Given the description of an element on the screen output the (x, y) to click on. 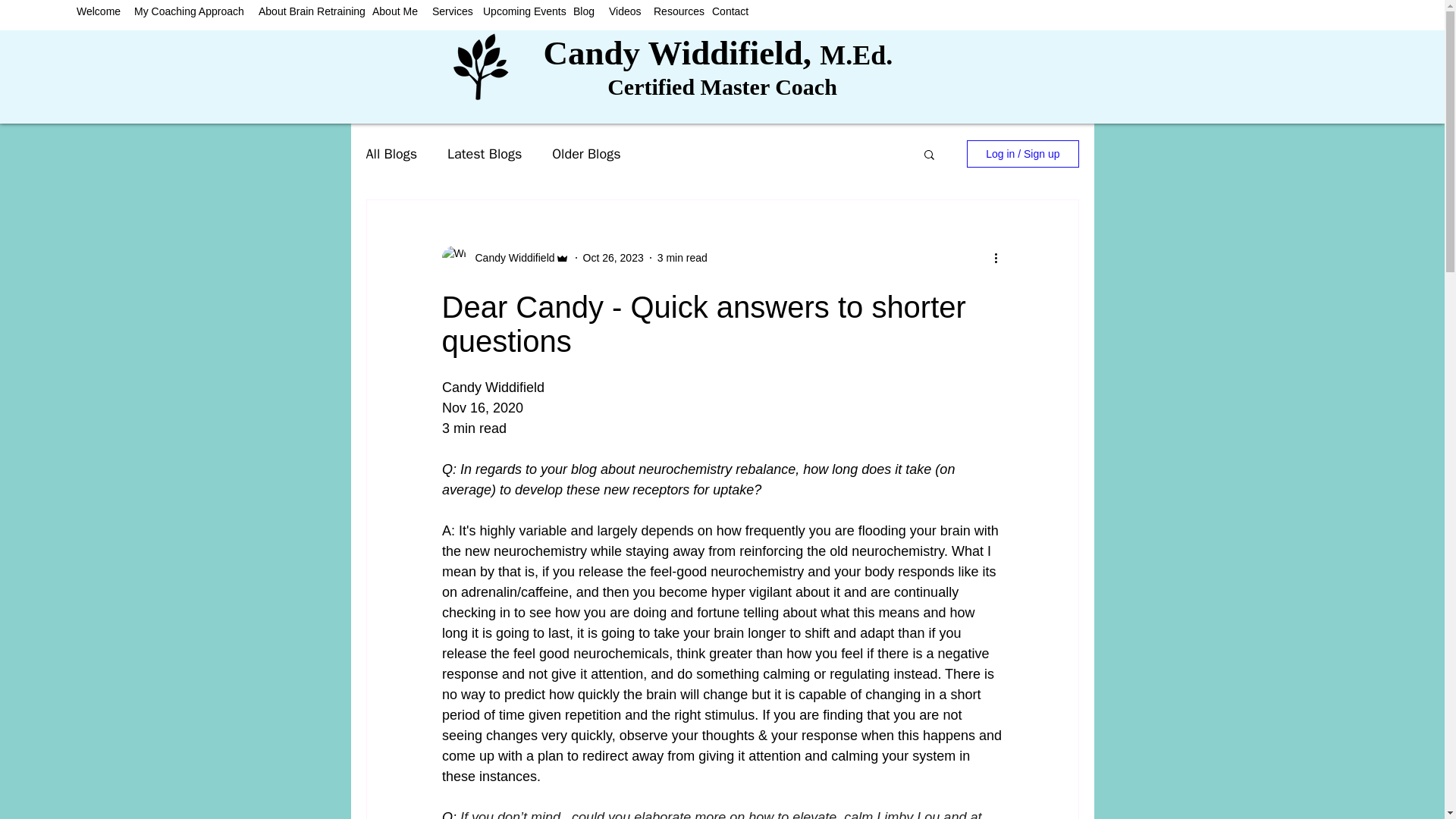
Oct 26, 2023 (613, 257)
Welcome (97, 11)
Latest Blogs (483, 153)
Services (450, 11)
About Brain Retraining (307, 11)
Blog (583, 11)
Older Blogs (585, 153)
Resources (675, 11)
My Coaching Approach (188, 11)
Contact (729, 11)
